Given the description of an element on the screen output the (x, y) to click on. 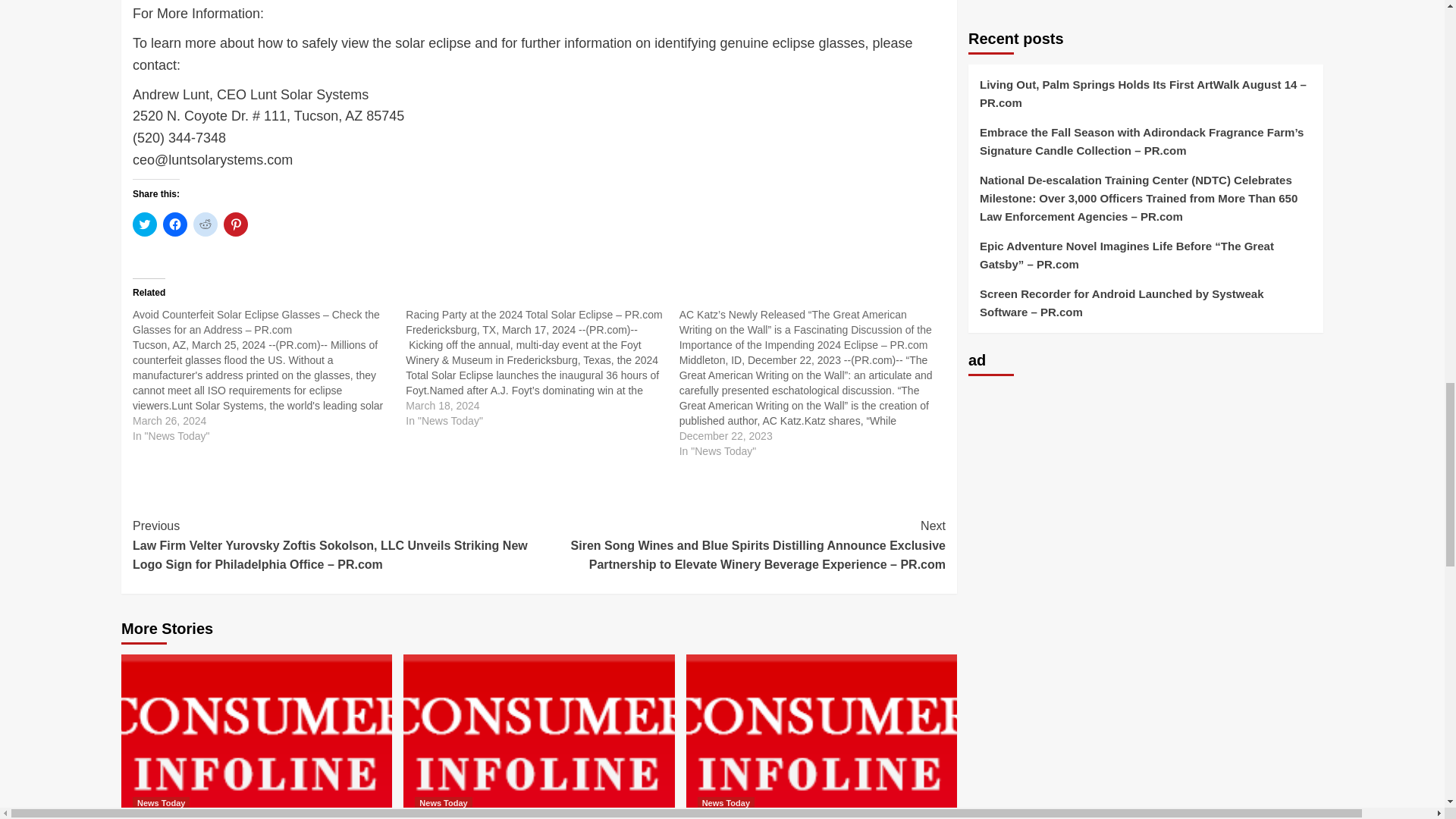
News Today (160, 802)
Click to share on Reddit (204, 224)
Click to share on Facebook (175, 224)
Click to share on Twitter (144, 224)
Click to share on Pinterest (235, 224)
